Given the description of an element on the screen output the (x, y) to click on. 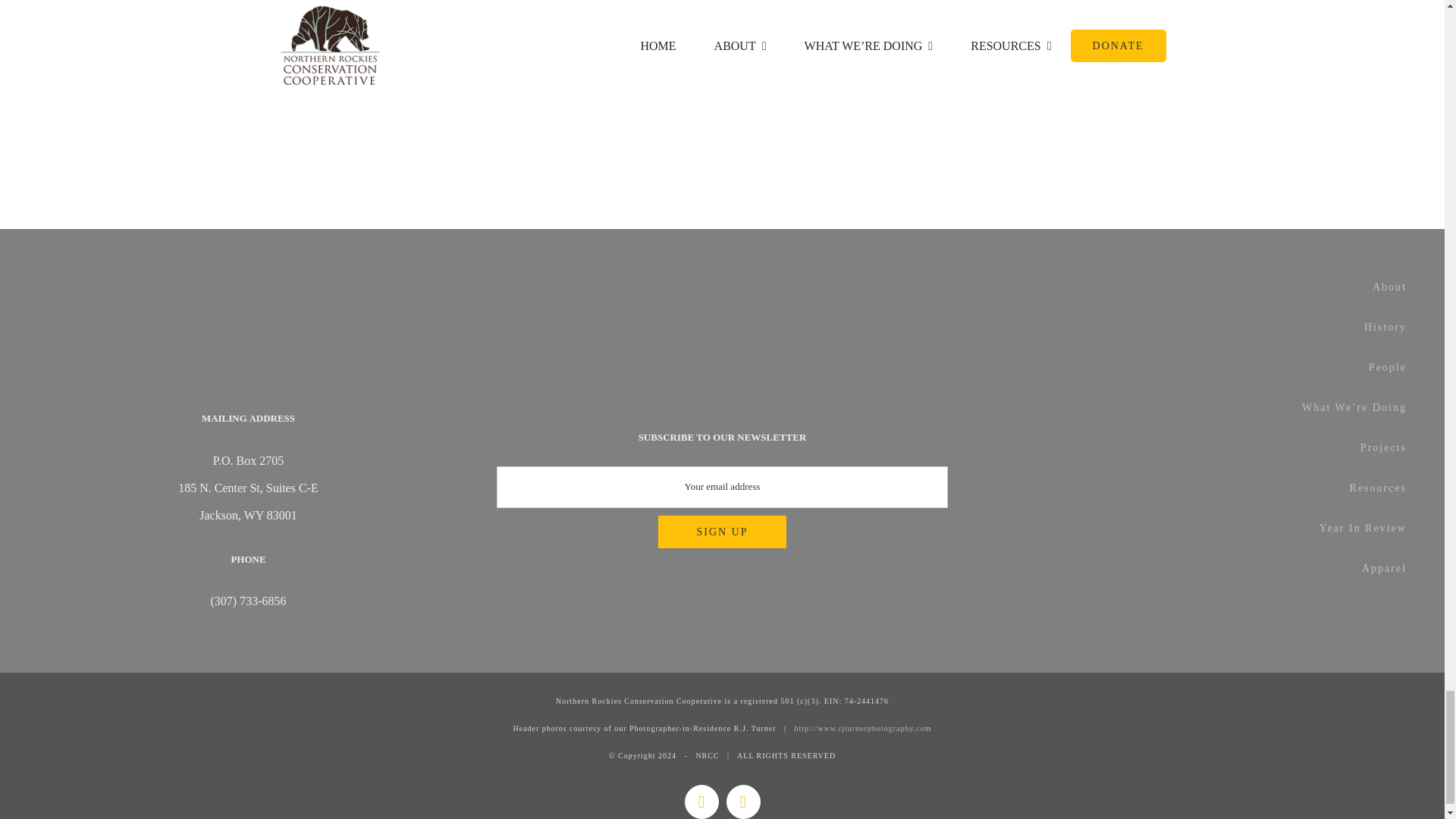
Matt,herding,UP-min (955, 78)
Facebook (700, 801)
WolfConnection-68-MattBarnes (955, 3)
Matt,brownhat,snowy-min (488, 66)
Sign up (722, 531)
Instagram (743, 801)
